Given the description of an element on the screen output the (x, y) to click on. 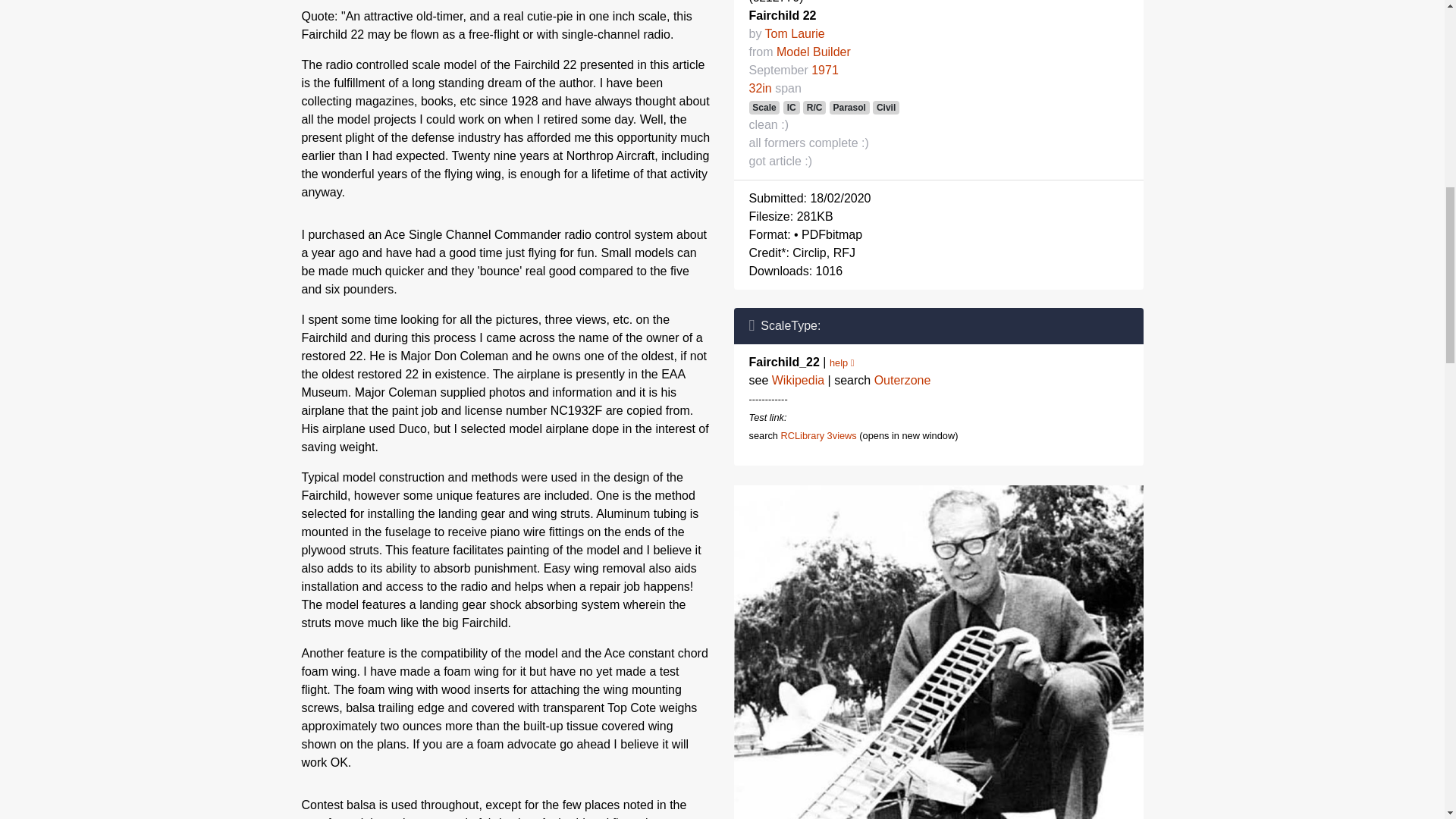
Tom Laurie (795, 33)
1971 (824, 69)
Outerzone (903, 379)
Model Builder (813, 51)
32in (760, 88)
Wikipedia (797, 379)
help (841, 362)
RCLibrary 3views (818, 435)
